Given the description of an element on the screen output the (x, y) to click on. 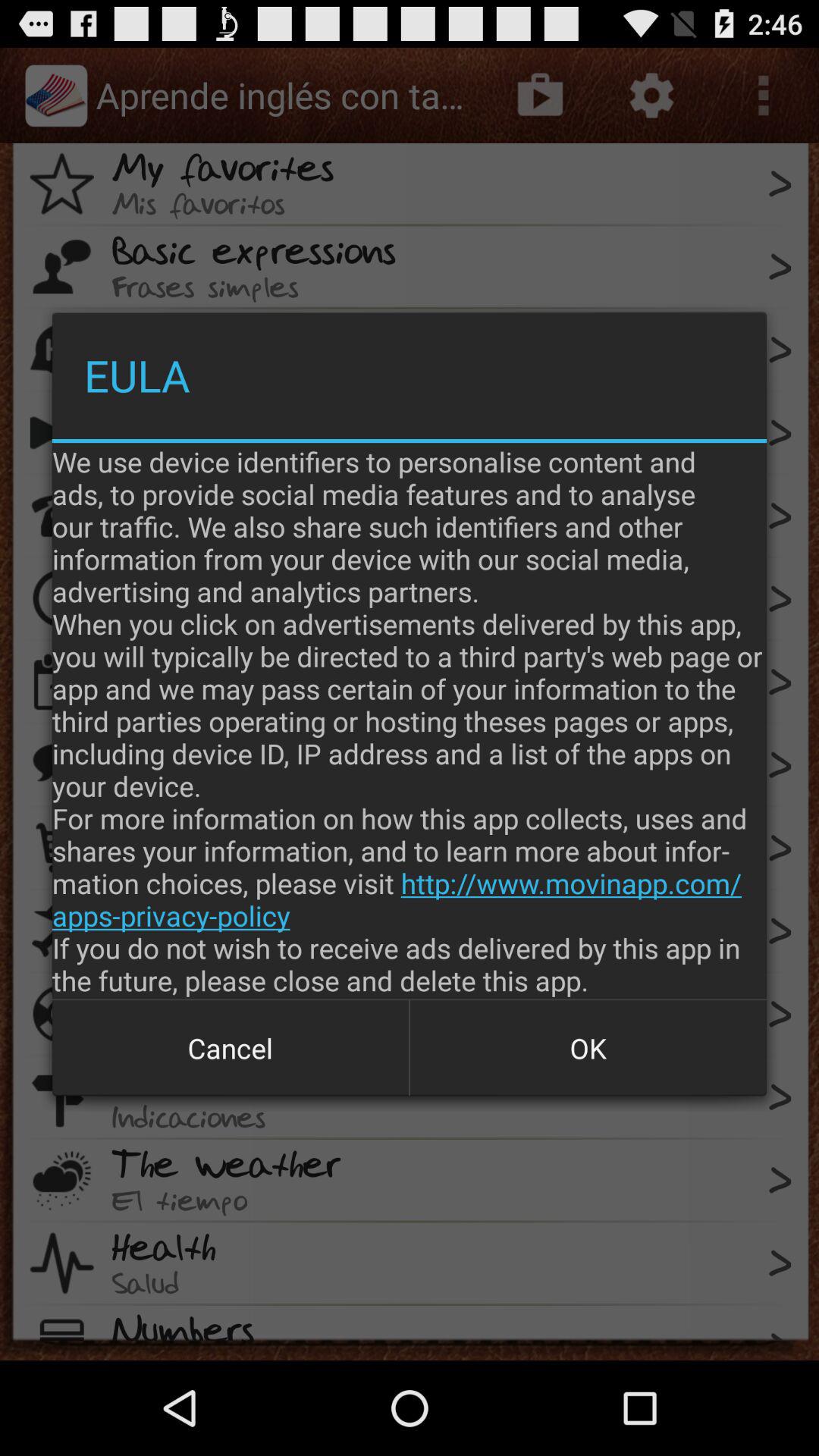
press the cancel (230, 1047)
